Given the description of an element on the screen output the (x, y) to click on. 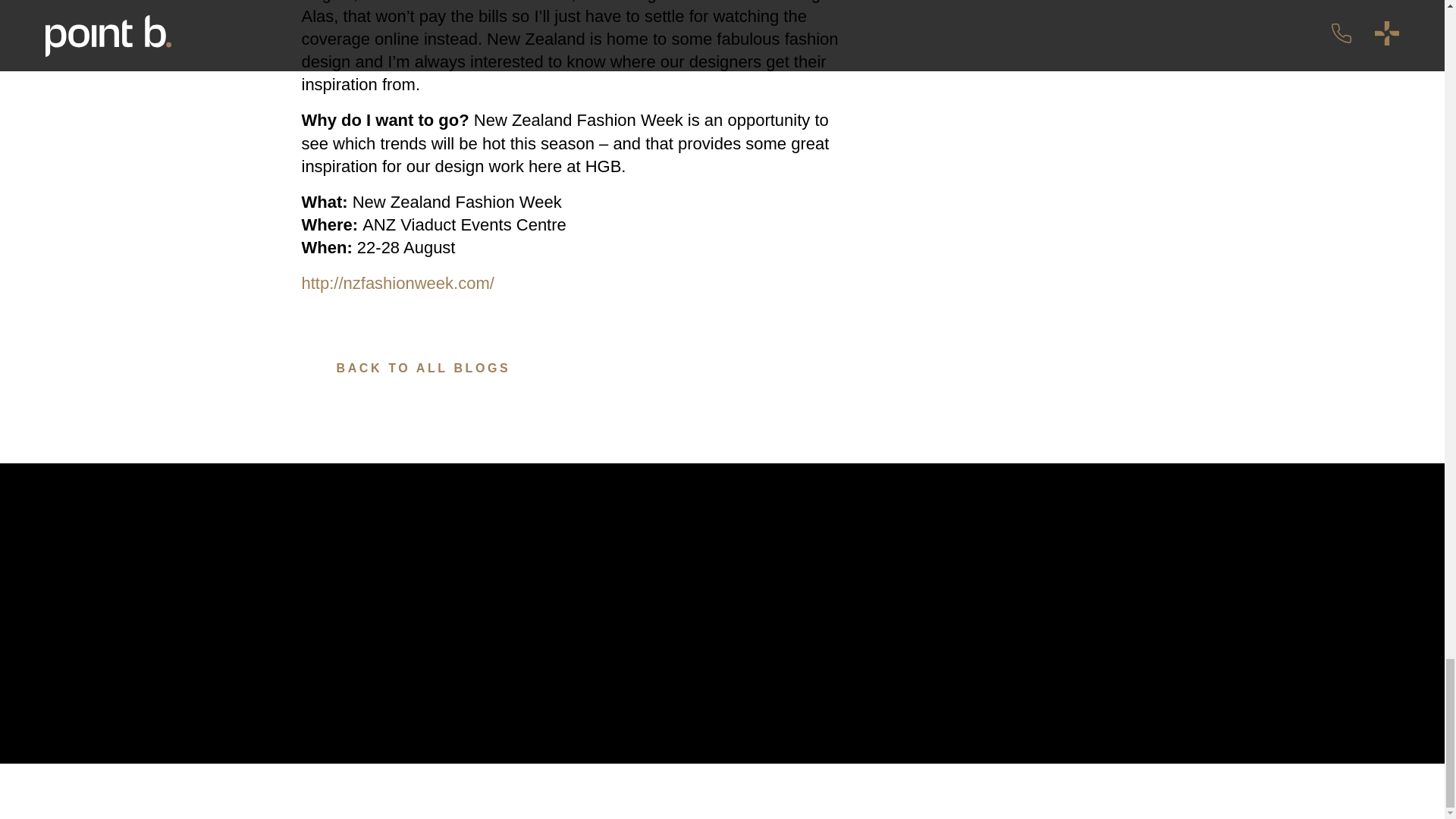
BACK TO ALL BLOGS (406, 368)
BACK TO ALL BLOGS (406, 368)
